Given the description of an element on the screen output the (x, y) to click on. 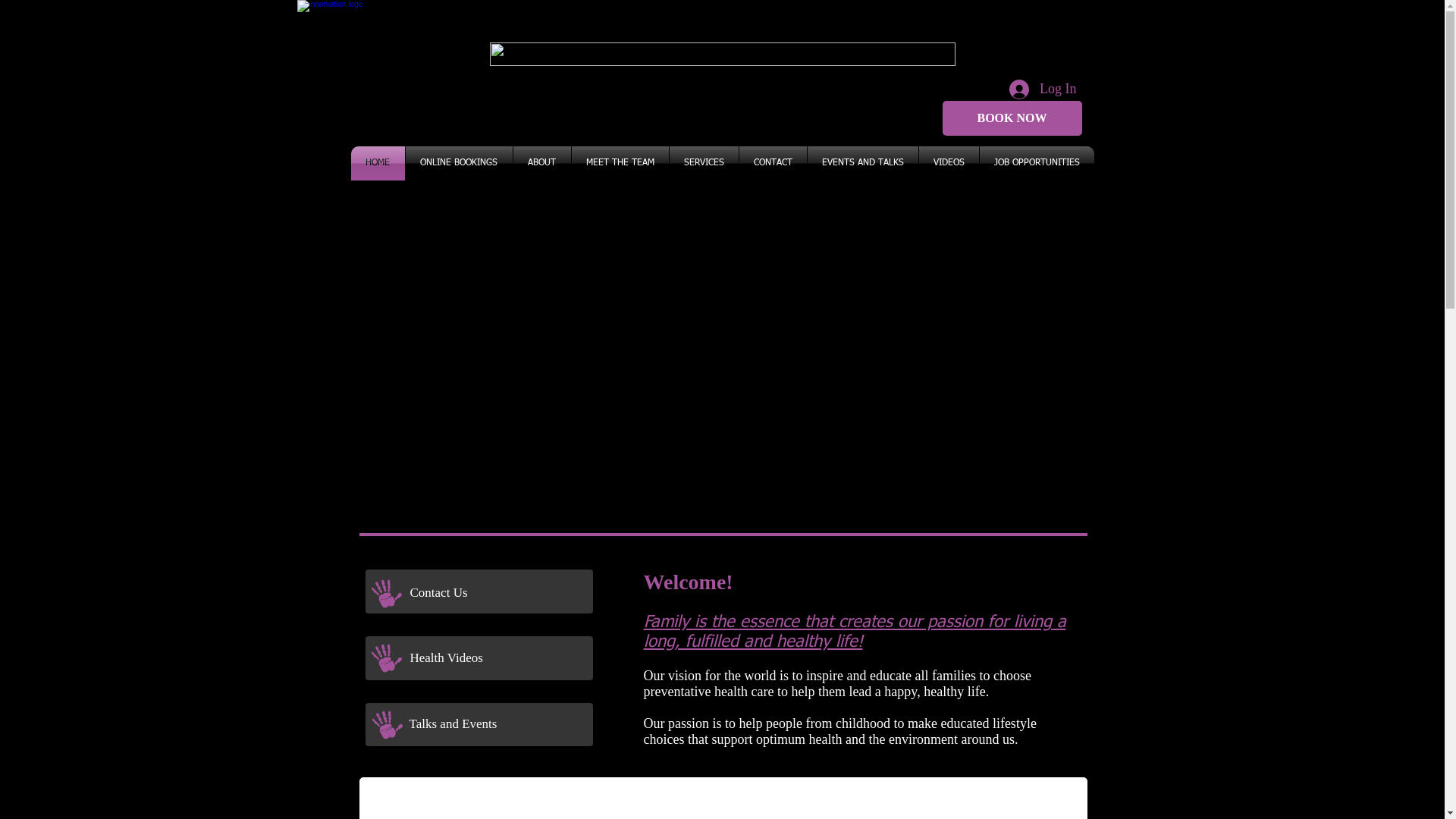
Talks and Events Element type: text (496, 723)
SERVICES Element type: text (702, 163)
VIDEOS Element type: text (949, 163)
MEET THE TEAM Element type: text (619, 163)
EVENTS AND TALKS Element type: text (861, 163)
CONTACT Element type: text (772, 163)
BOOK NOW Element type: text (1011, 117)
HOME Element type: text (377, 163)
JOB OPPORTUNITIES Element type: text (1036, 163)
Contact Us Element type: text (496, 592)
ABOUT Element type: text (541, 163)
Log In Element type: text (1042, 89)
Health Videos Element type: text (496, 657)
ONLINE BOOKINGS Element type: text (457, 163)
